Given the description of an element on the screen output the (x, y) to click on. 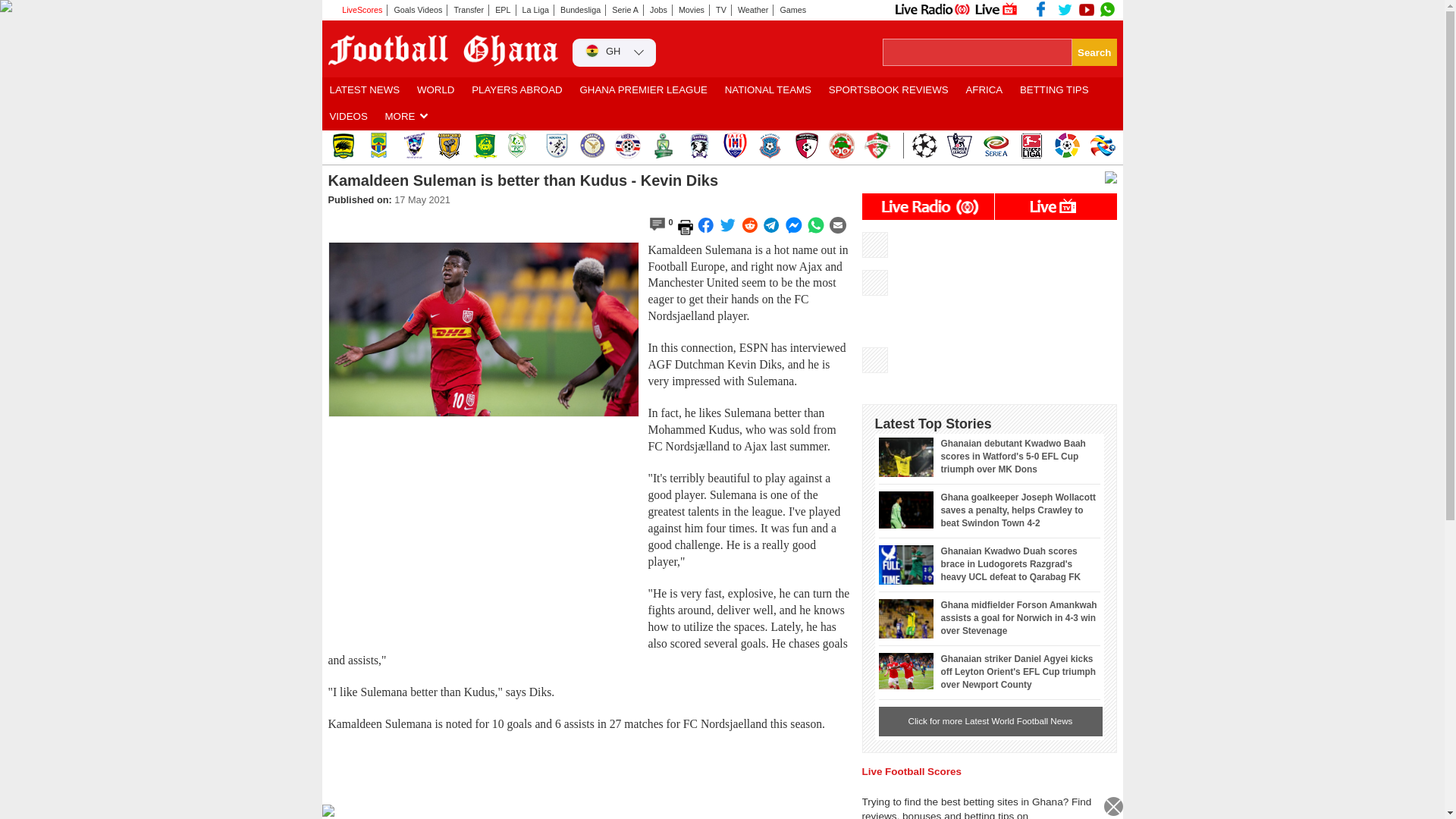
LiveScores (357, 9)
Liberty Professionals (627, 145)
Accra Hearts of Oak (378, 145)
Championship (959, 145)
UEFA (924, 145)
Goals Videos (418, 9)
TV (720, 9)
Ebusua Dwarfs (484, 145)
Bechem United (698, 145)
Techiman Wonders (840, 145)
